Given the description of an element on the screen output the (x, y) to click on. 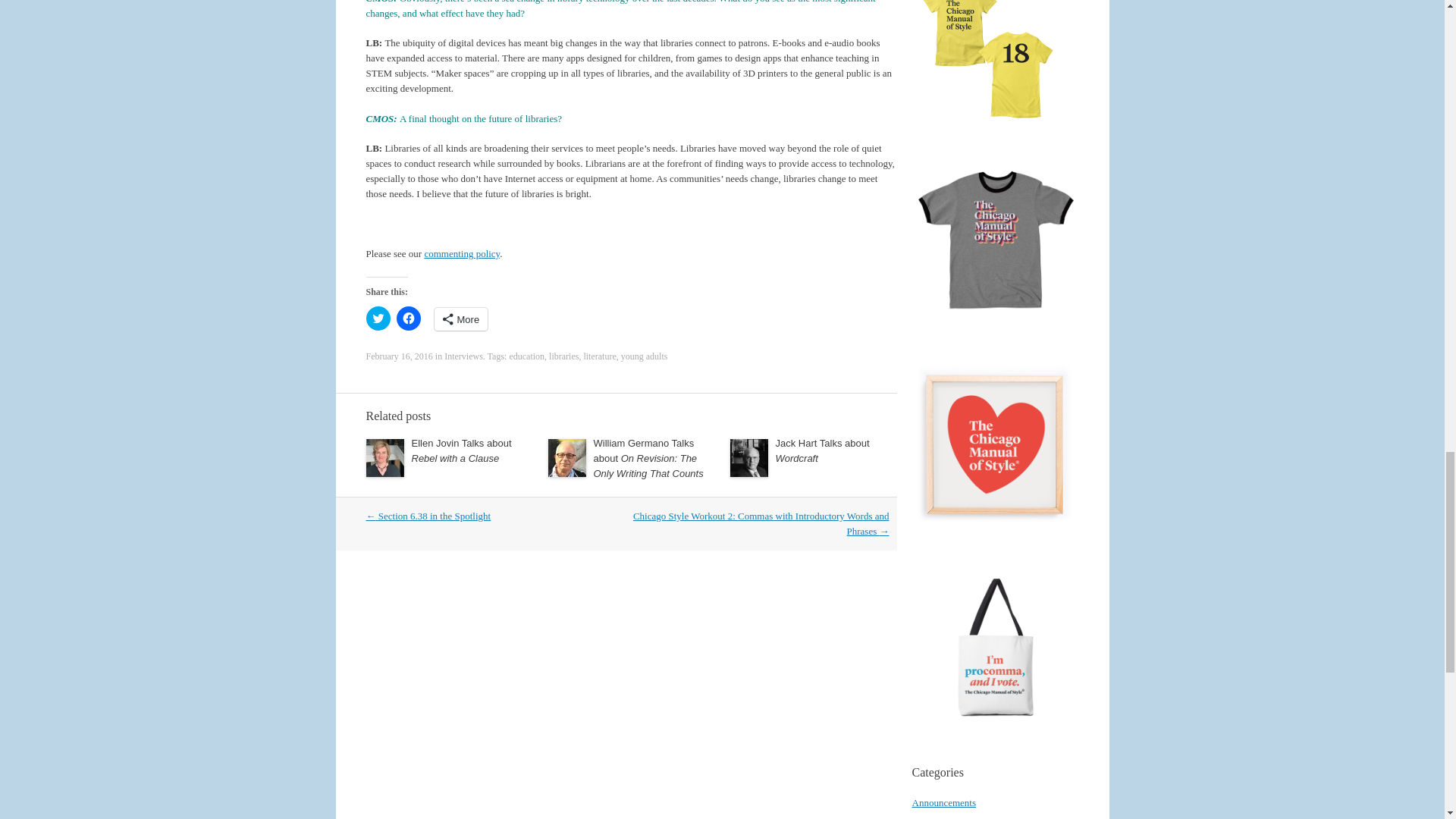
Interviews (463, 356)
Click to share on Facebook (408, 318)
Ellen Jovin Talks about Rebel with a Clause (460, 450)
young adults (644, 356)
commenting policy (461, 253)
Permalink to Ellen Jovin Talks about Rebel with a Clause (460, 450)
education (526, 356)
Click to share on Twitter (377, 318)
More (460, 318)
February 16, 2016 (398, 356)
Permalink to Jack Hart Talks about Wordcraft (821, 450)
libraries (563, 356)
literature (599, 356)
